Given the description of an element on the screen output the (x, y) to click on. 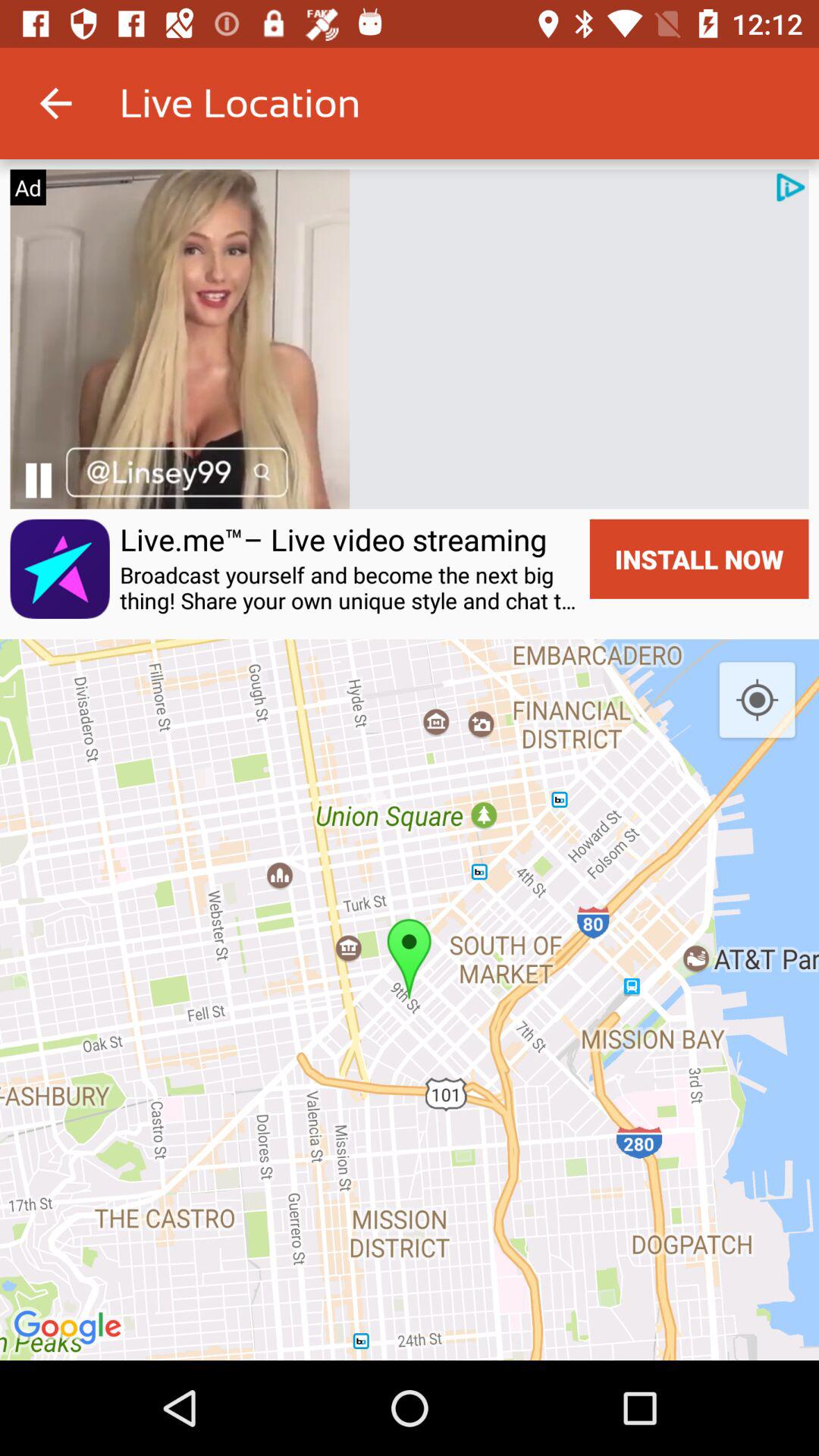
swipe to the live me live item (333, 539)
